Given the description of an element on the screen output the (x, y) to click on. 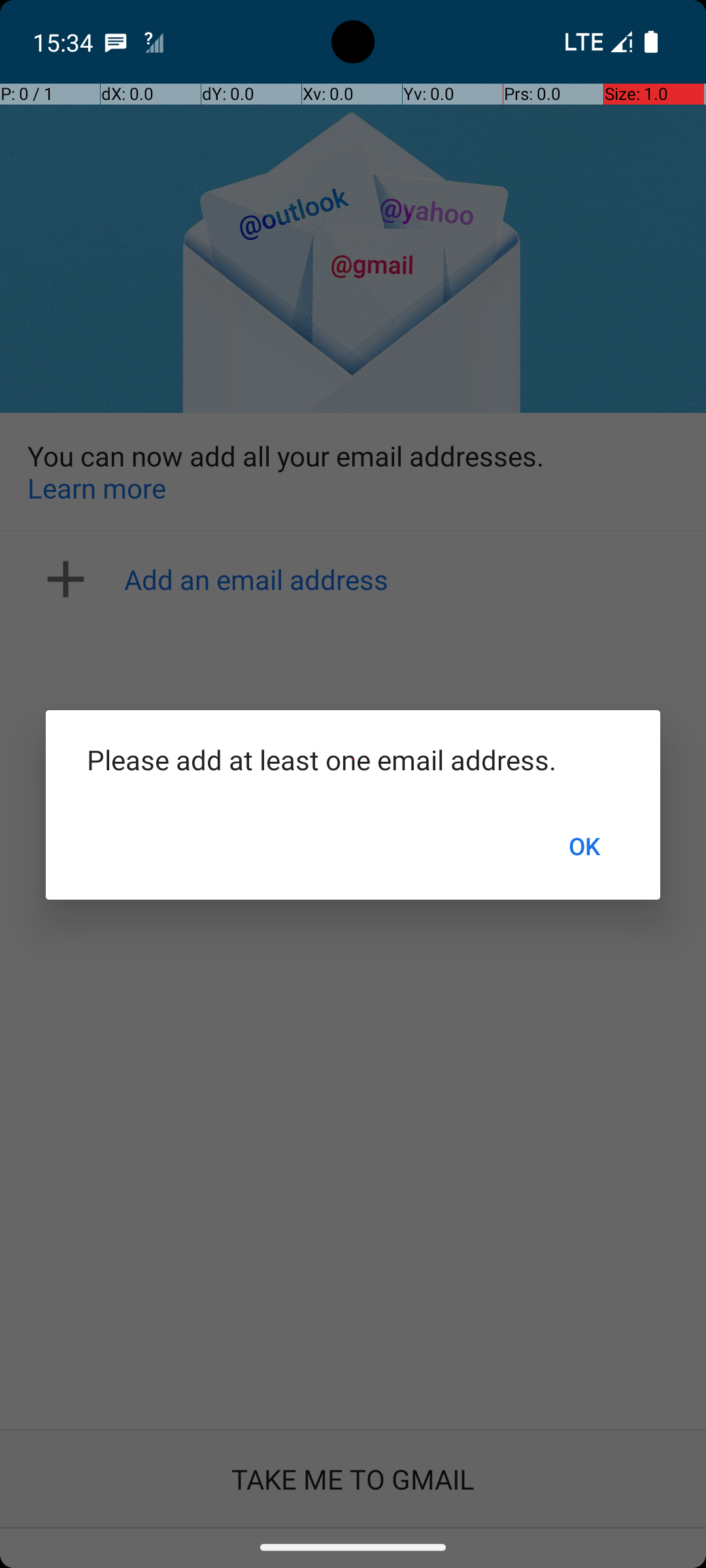
Please add at least one email address. Element type: android.widget.TextView (352, 759)
Android System notification: Sign in to network Element type: android.widget.ImageView (153, 41)
